Given the description of an element on the screen output the (x, y) to click on. 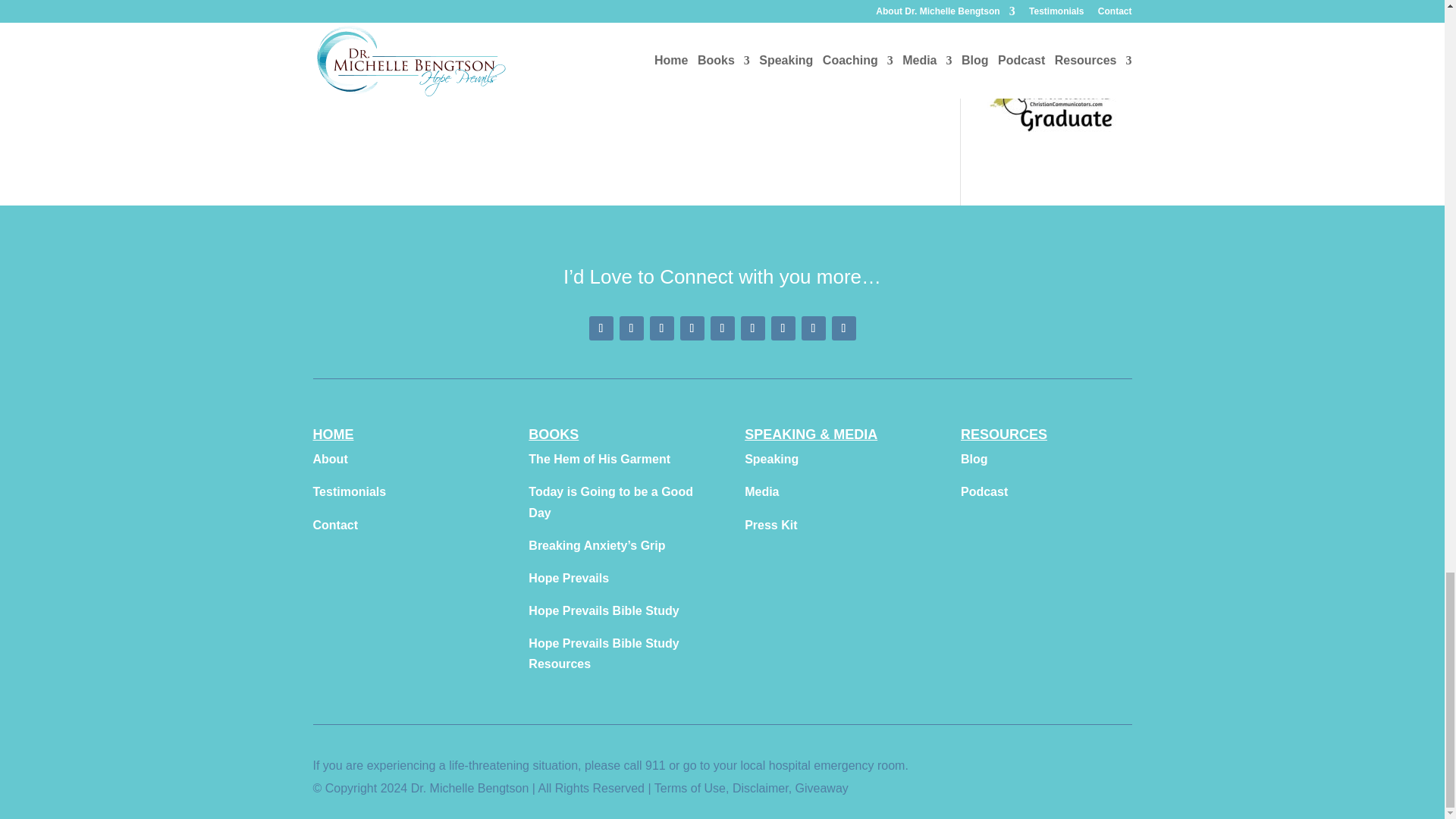
Follow on LinkedIn (751, 328)
Follow on Podcast (782, 328)
Follow on Facebook (600, 328)
Follow on Amazon (812, 328)
Follow on Pinterest (630, 328)
Follow on BookBub (843, 328)
Follow on Twitter (721, 328)
Follow on Youtube (691, 328)
Follow on Instagram (660, 328)
